Given the description of an element on the screen output the (x, y) to click on. 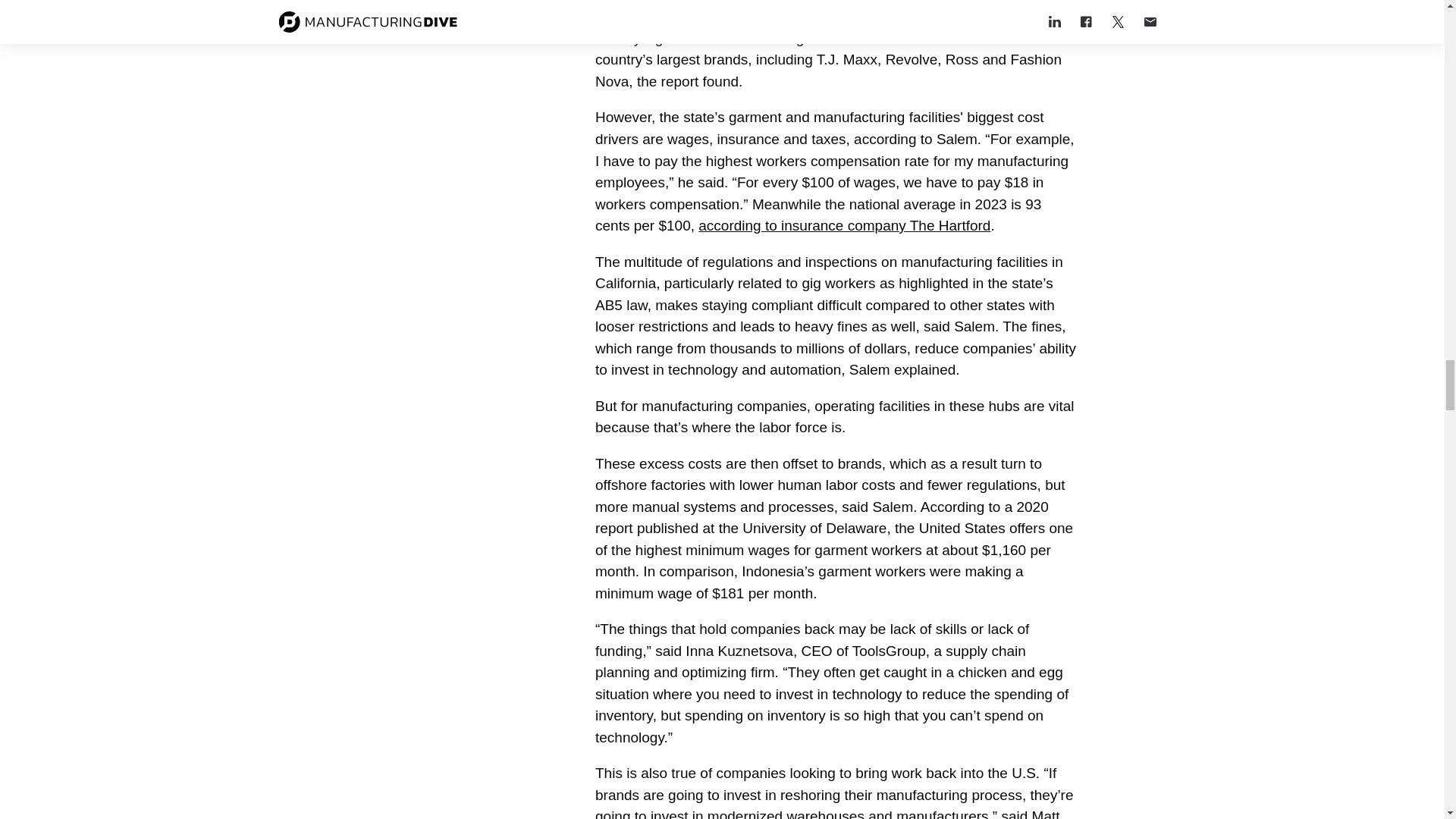
Garment Worker Center (714, 16)
according to insurance company The Hartford (844, 225)
